Given the description of an element on the screen output the (x, y) to click on. 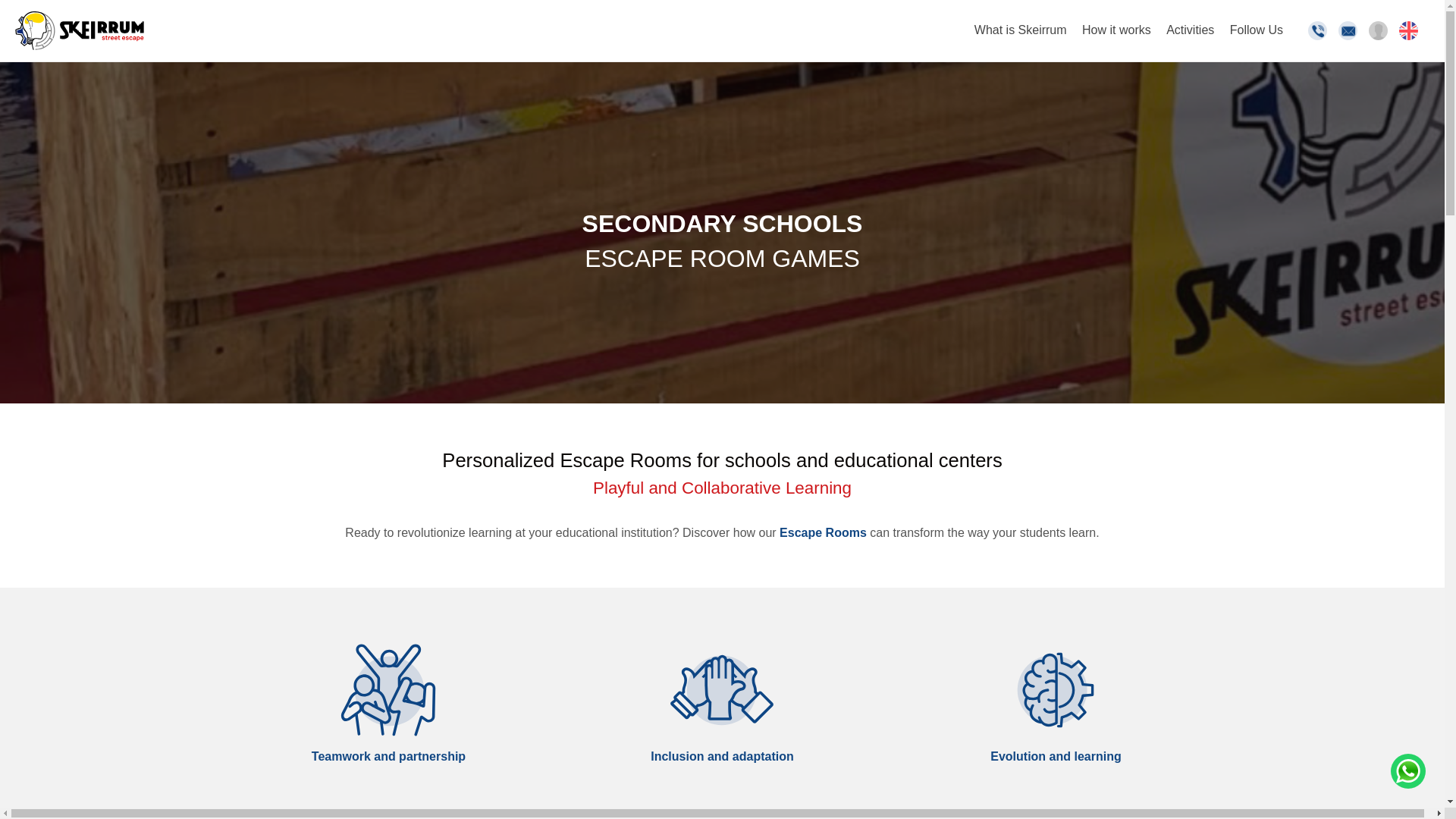
Avatar (1377, 30)
What is Skeirrum (1020, 35)
Activities (1190, 35)
How it works (1116, 35)
Follow Us (1256, 35)
